Given the description of an element on the screen output the (x, y) to click on. 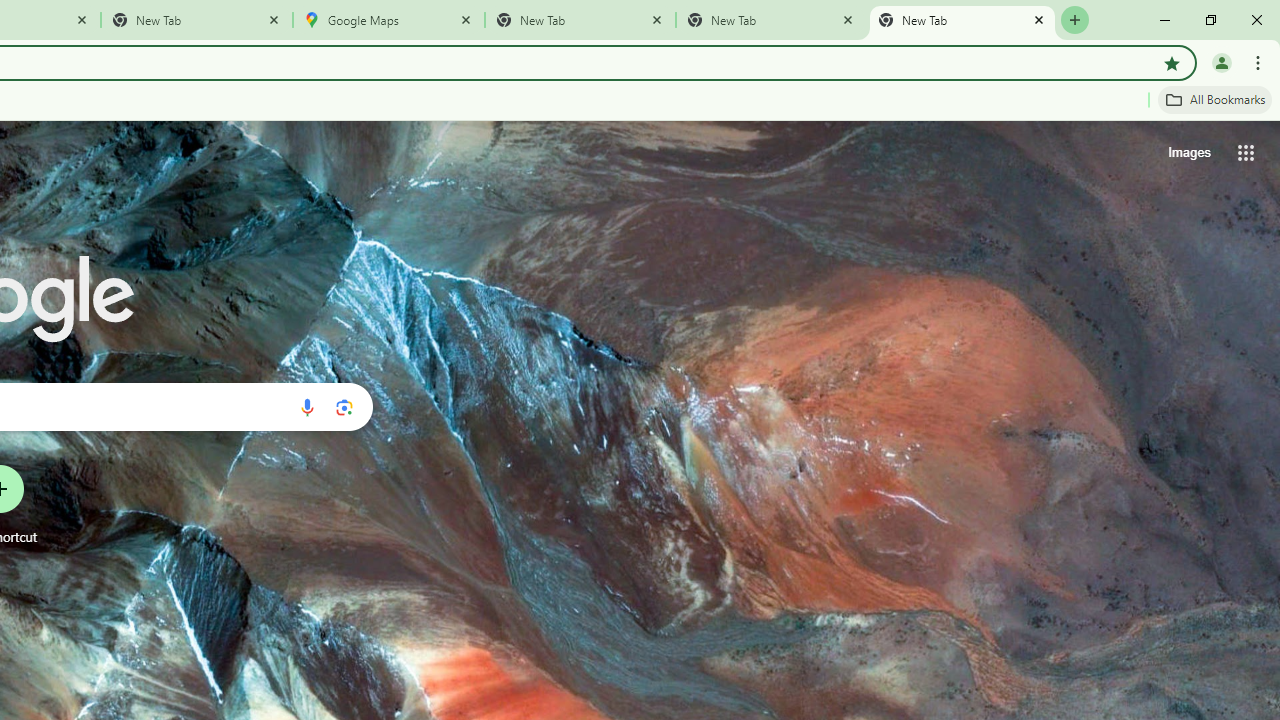
New Tab (962, 20)
Search by voice (307, 407)
Google Maps (389, 20)
All Bookmarks (1215, 99)
New Tab (197, 20)
Search by image (344, 407)
New Tab (580, 20)
Search for Images  (1188, 152)
